Given the description of an element on the screen output the (x, y) to click on. 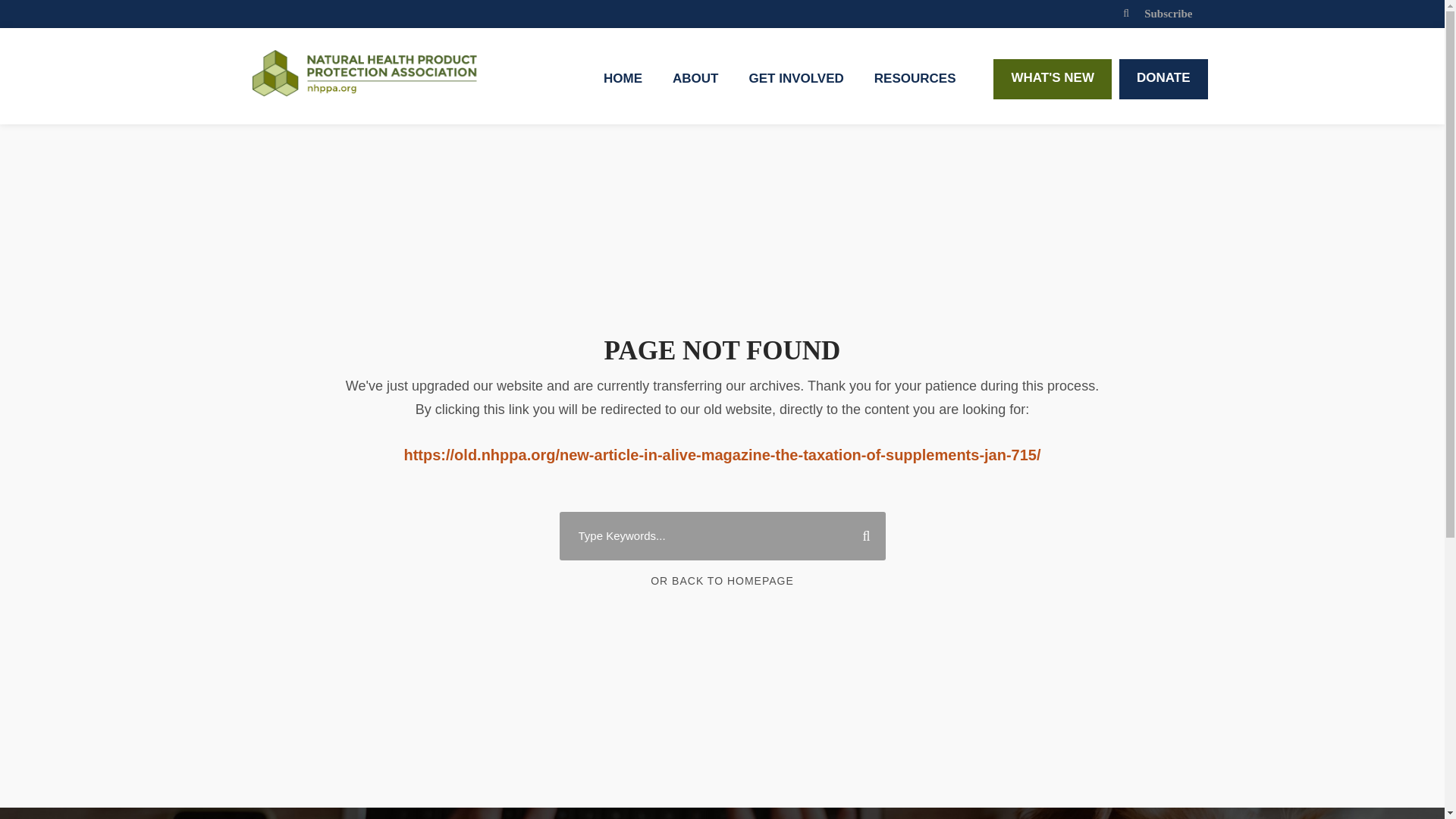
OR BACK TO HOMEPAGE (721, 580)
HOME (623, 85)
ABOUT (694, 85)
DONATE (1163, 78)
Search (860, 535)
WHAT'S NEW (1052, 78)
Subscribe (1168, 13)
GET INVOLVED (795, 85)
RESOURCES (915, 85)
